Given the description of an element on the screen output the (x, y) to click on. 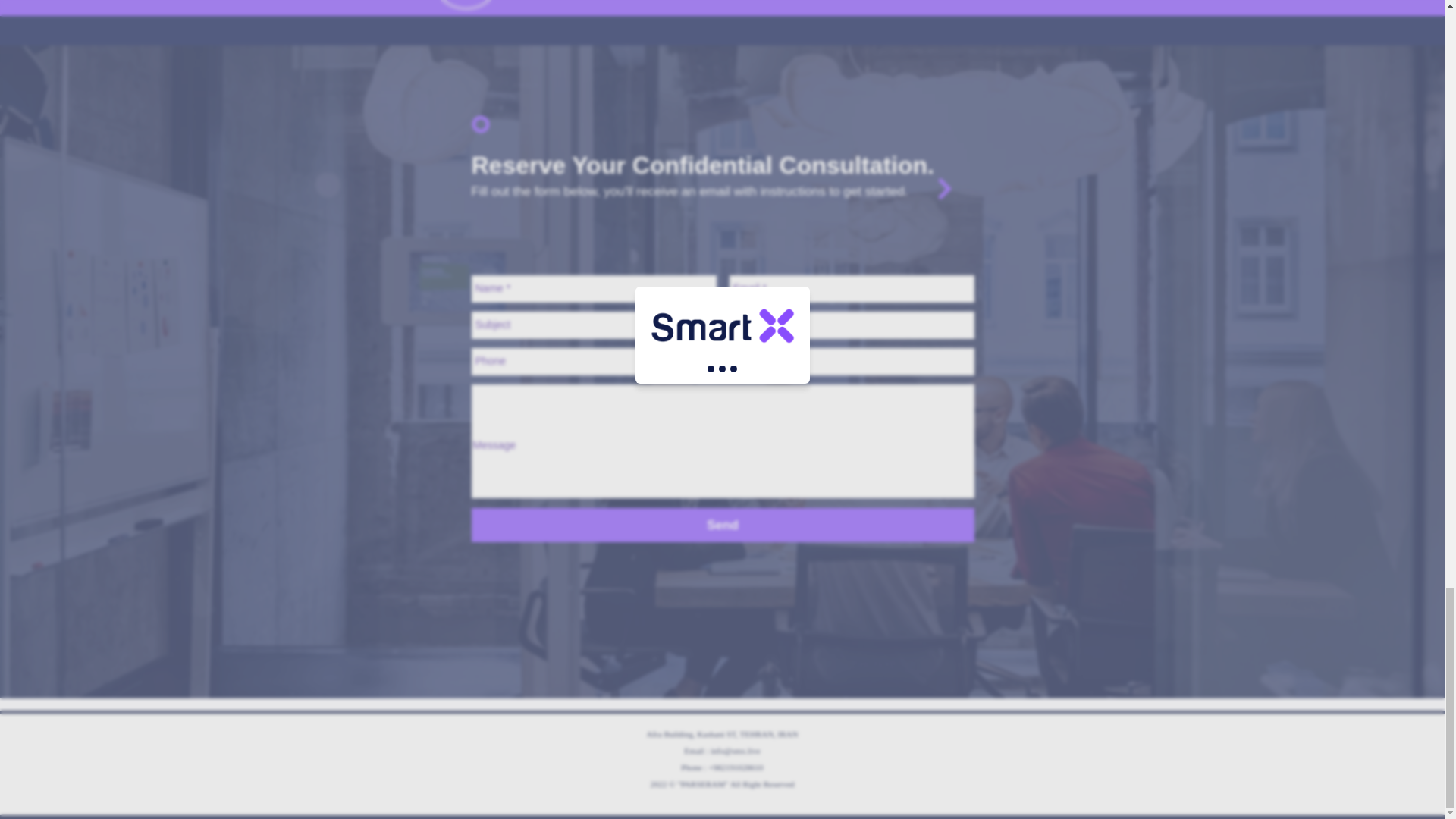
Send (722, 524)
